Given the description of an element on the screen output the (x, y) to click on. 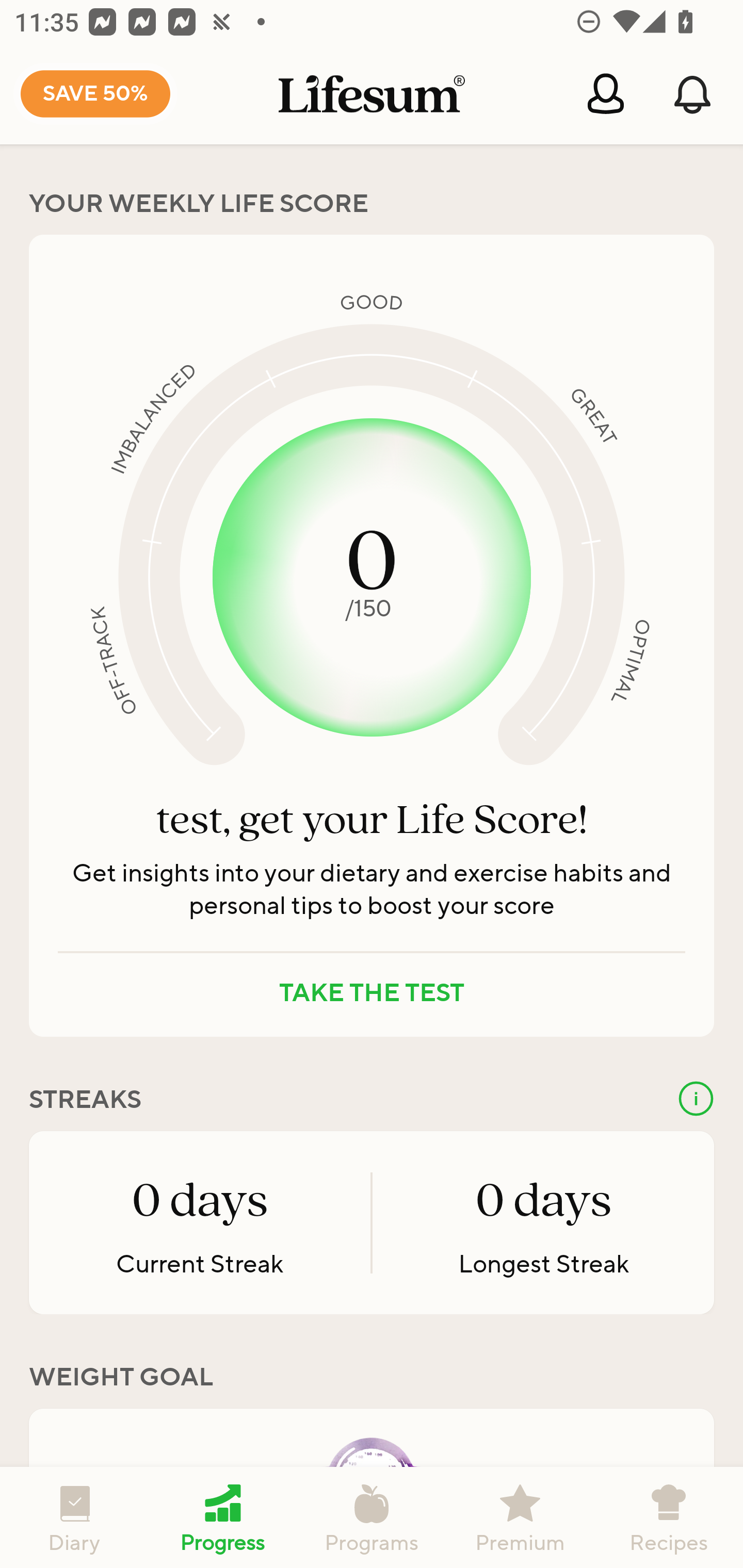
TAKE THE TEST (371, 993)
Diary (74, 1517)
Programs (371, 1517)
Premium (519, 1517)
Recipes (668, 1517)
